Given the description of an element on the screen output the (x, y) to click on. 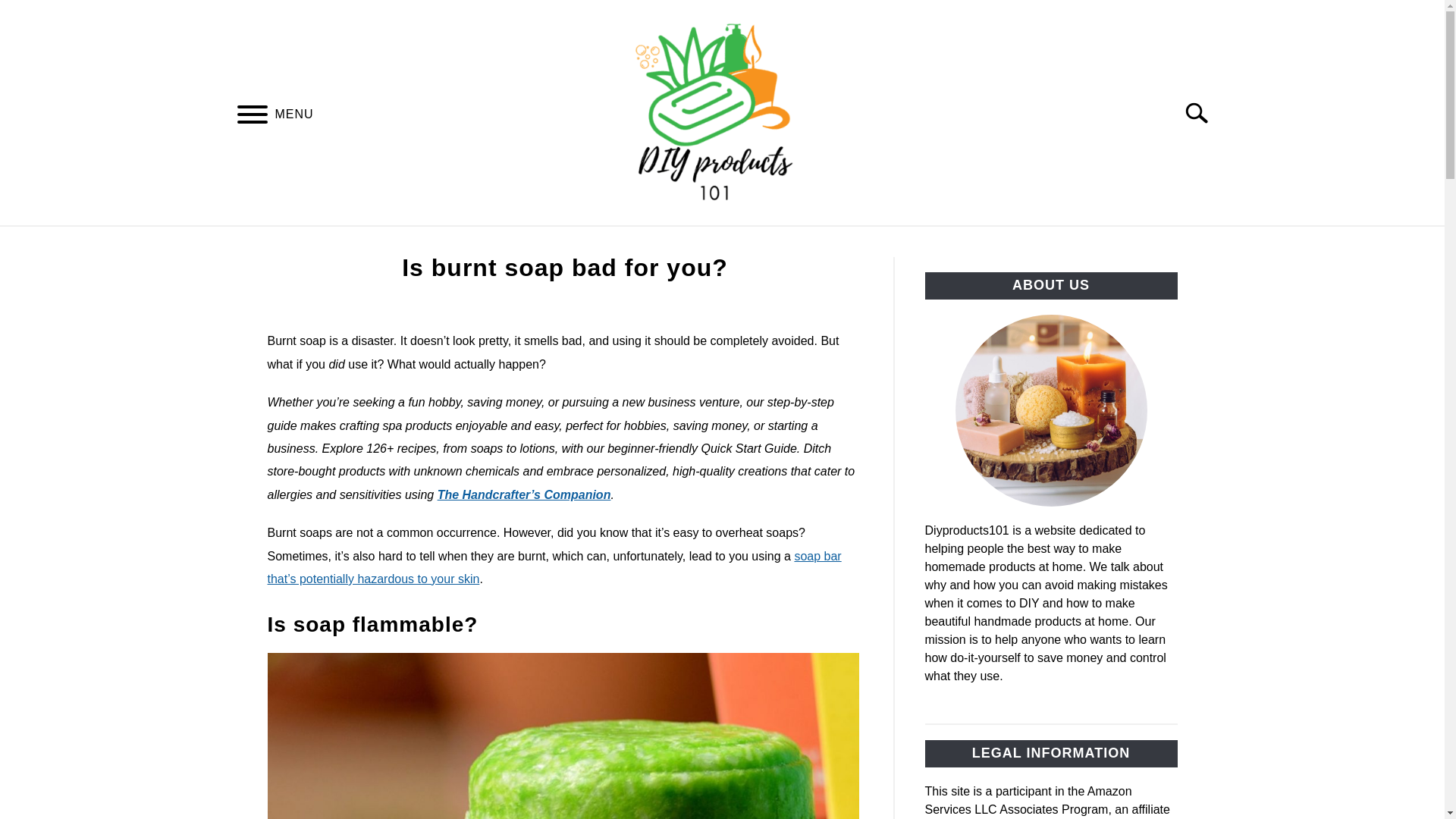
Search (1203, 112)
MENU (251, 116)
CATEGORIES (672, 243)
ABOUT US (783, 243)
